Given the description of an element on the screen output the (x, y) to click on. 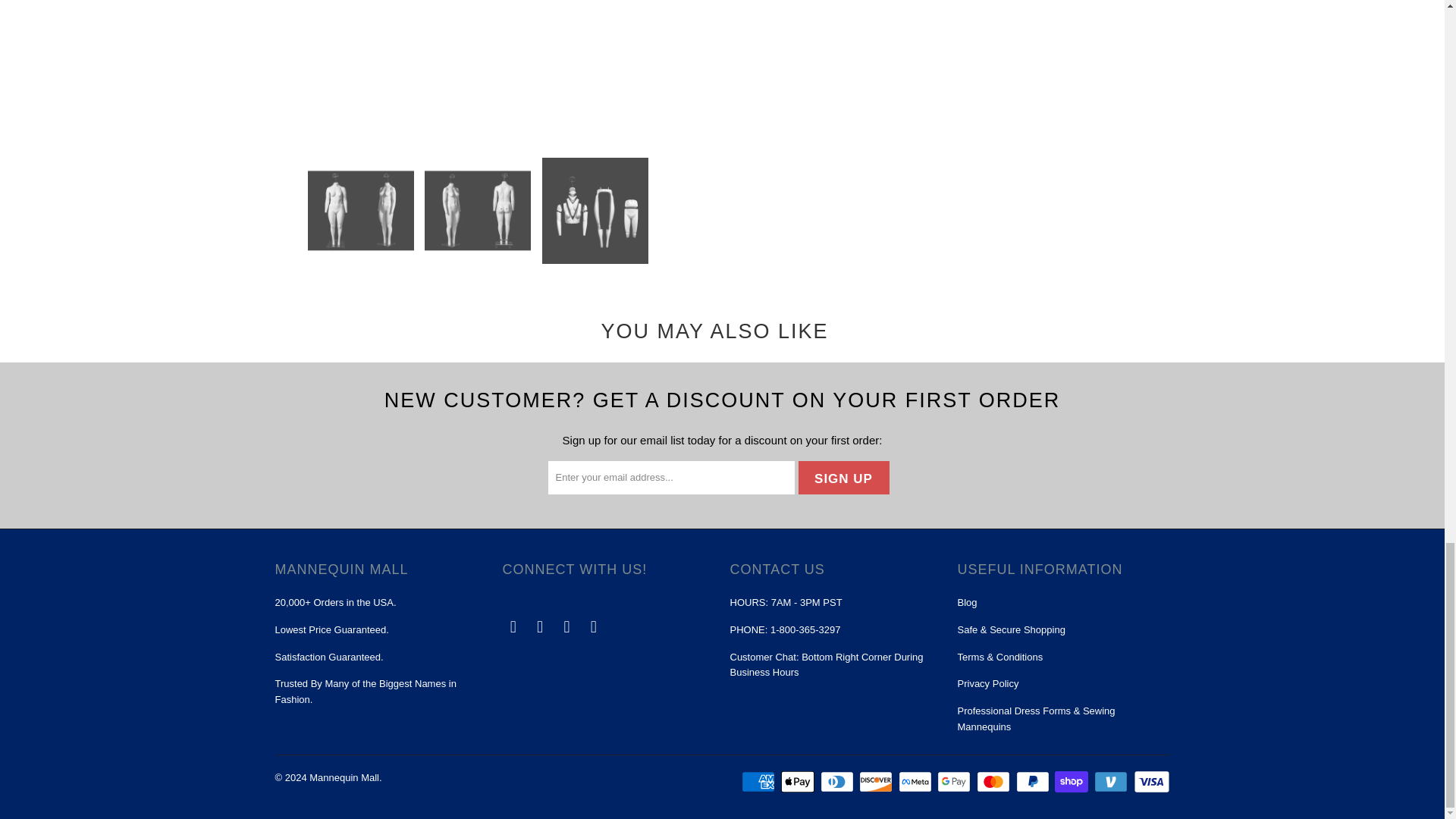
Diners Club (839, 781)
Apple Pay (798, 781)
Mannequin Mall on Pinterest (540, 627)
Shop Pay (1072, 781)
Mannequin Mall on Facebook (513, 627)
Mannequin Mall on LinkedIn (593, 627)
Discover (877, 781)
Mastercard (994, 781)
Meta Pay (916, 781)
PayPal (1034, 781)
Google Pay (955, 781)
Sign Up (842, 477)
Venmo (1112, 781)
Visa (1150, 781)
Mannequin Mall on Instagram (567, 627)
